Given the description of an element on the screen output the (x, y) to click on. 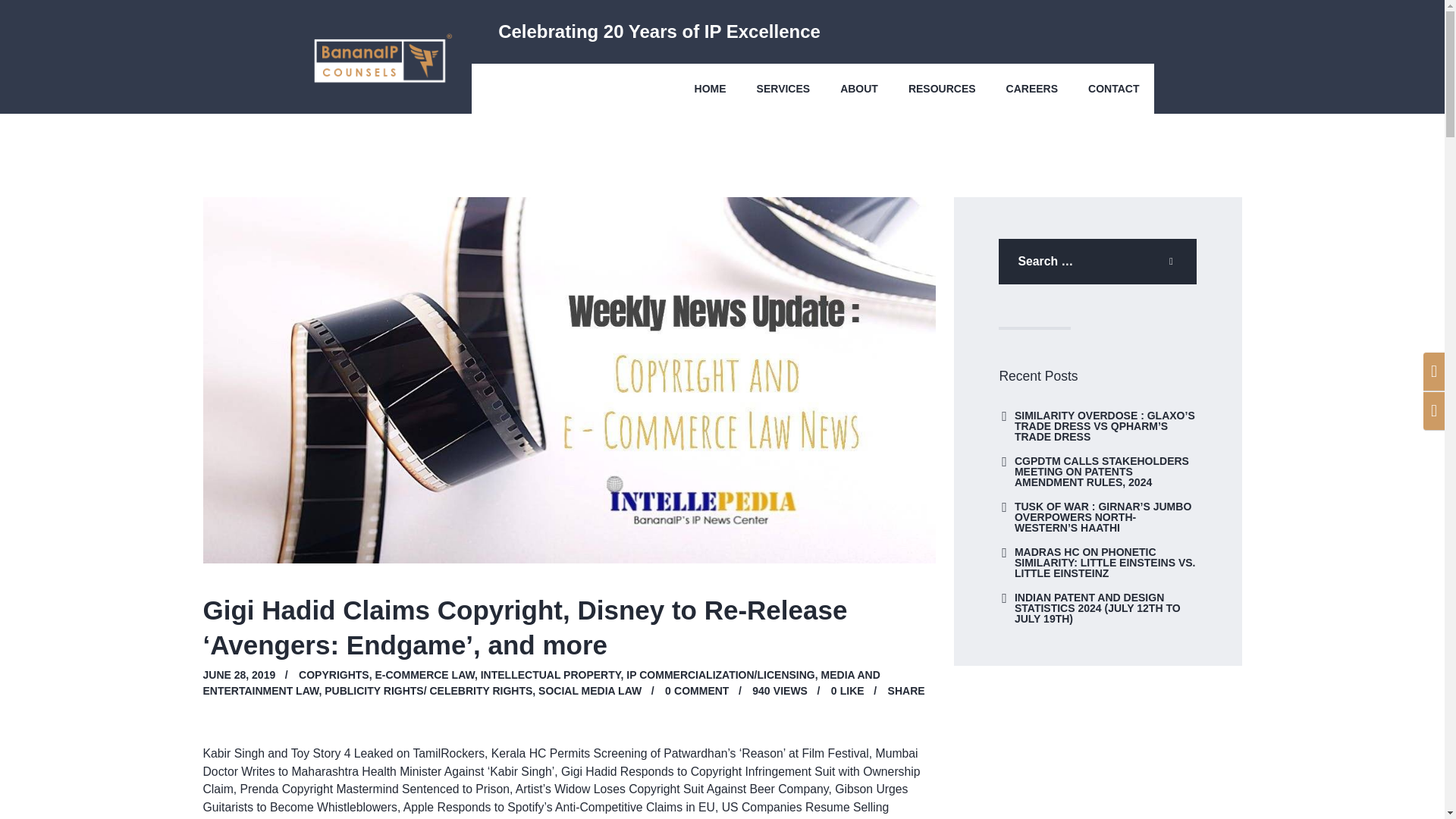
Search (1175, 261)
SERVICES (783, 88)
Search (1175, 261)
HOME (710, 88)
